Given the description of an element on the screen output the (x, y) to click on. 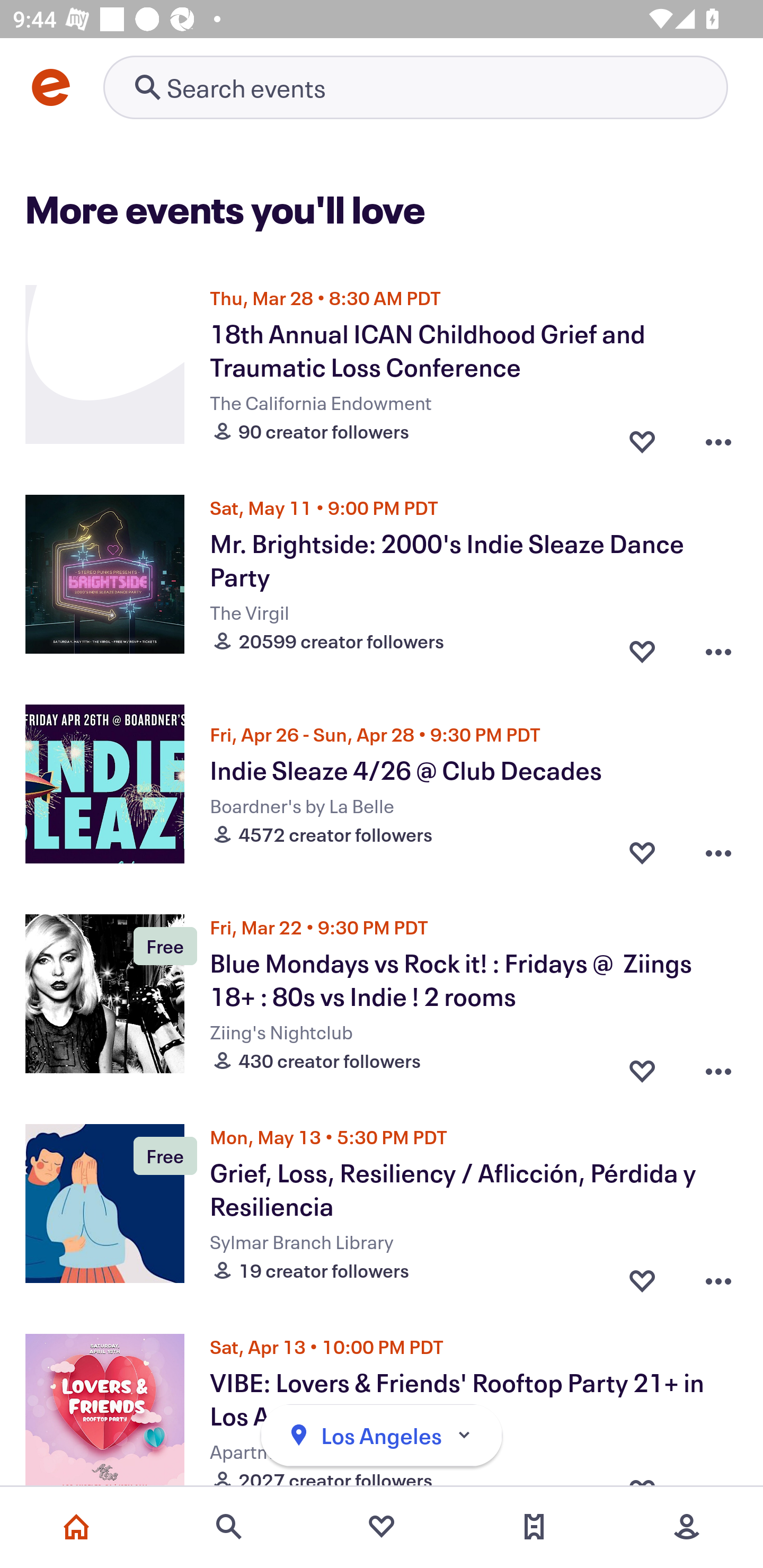
Retry's image Search events (415, 86)
Favorite button (642, 436)
Overflow menu button (718, 436)
Favorite button (642, 646)
Overflow menu button (718, 646)
Favorite button (642, 852)
Overflow menu button (718, 852)
Favorite button (642, 1066)
Overflow menu button (718, 1066)
Favorite button (642, 1275)
Overflow menu button (718, 1275)
Los Angeles (381, 1435)
Home (76, 1526)
Search events (228, 1526)
Favorites (381, 1526)
Tickets (533, 1526)
More (686, 1526)
